Given the description of an element on the screen output the (x, y) to click on. 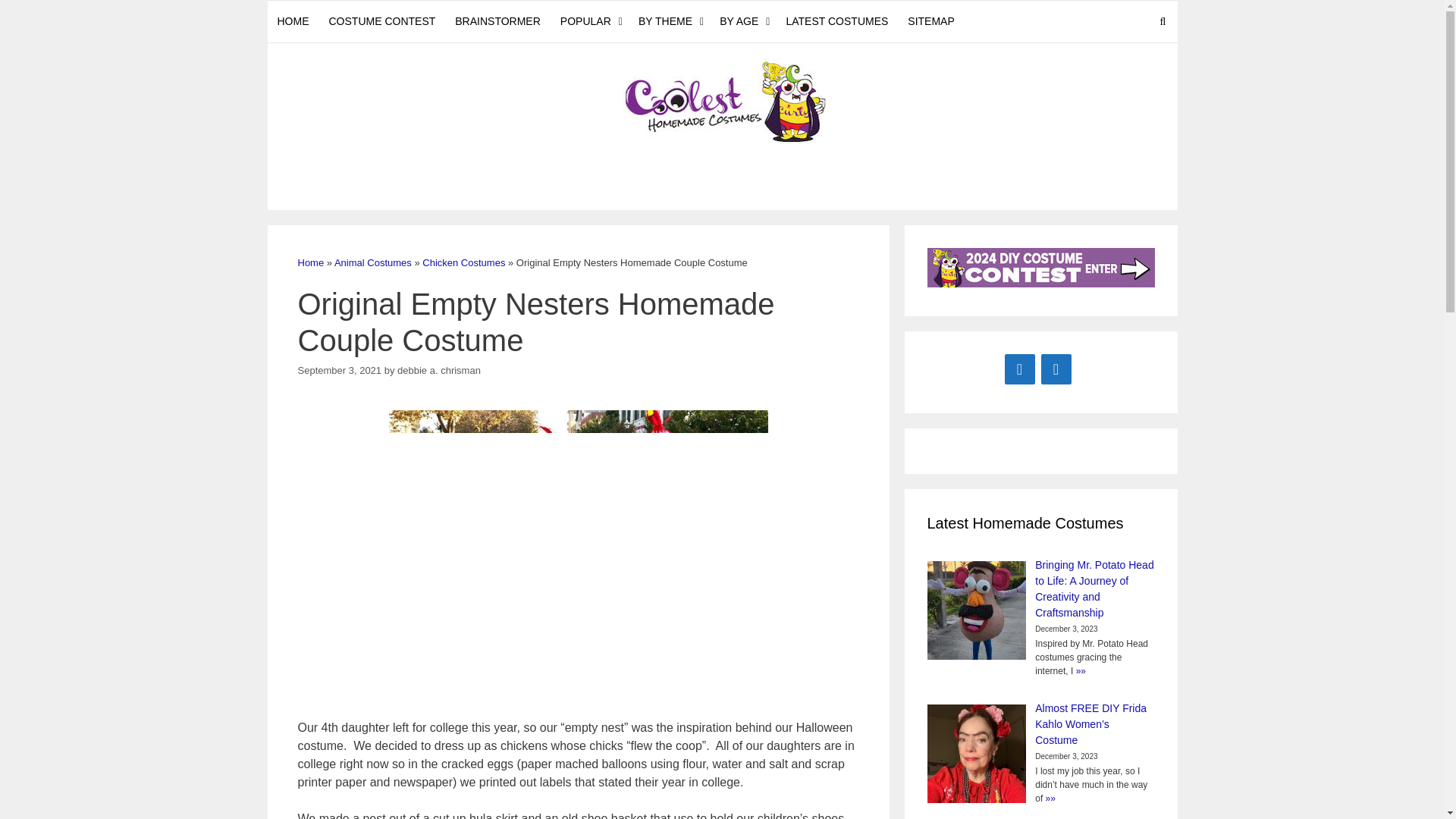
COSTUME CONTEST (381, 21)
LATEST COSTUMES (837, 21)
SITEMAP (930, 21)
Facebook (1018, 368)
View all posts by debbie a. chrisman (438, 369)
BY THEME (669, 21)
BRAINSTORMER (497, 21)
HOME (292, 21)
POPULAR (589, 21)
BY AGE (743, 21)
